Given the description of an element on the screen output the (x, y) to click on. 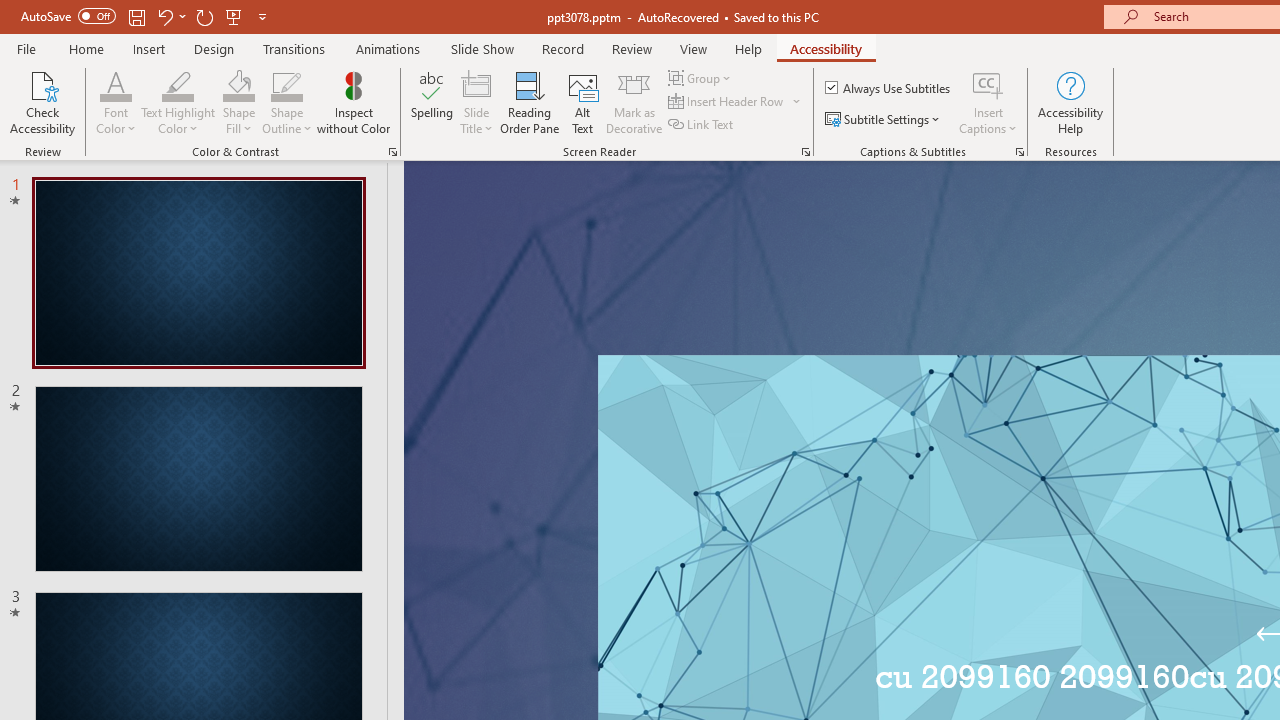
Link Text (702, 124)
Slide Title (476, 102)
Spelling... (432, 102)
Reading Order Pane (529, 102)
Screen Reader (805, 151)
Always Use Subtitles (889, 87)
Mark as Decorative (634, 102)
